Given the description of an element on the screen output the (x, y) to click on. 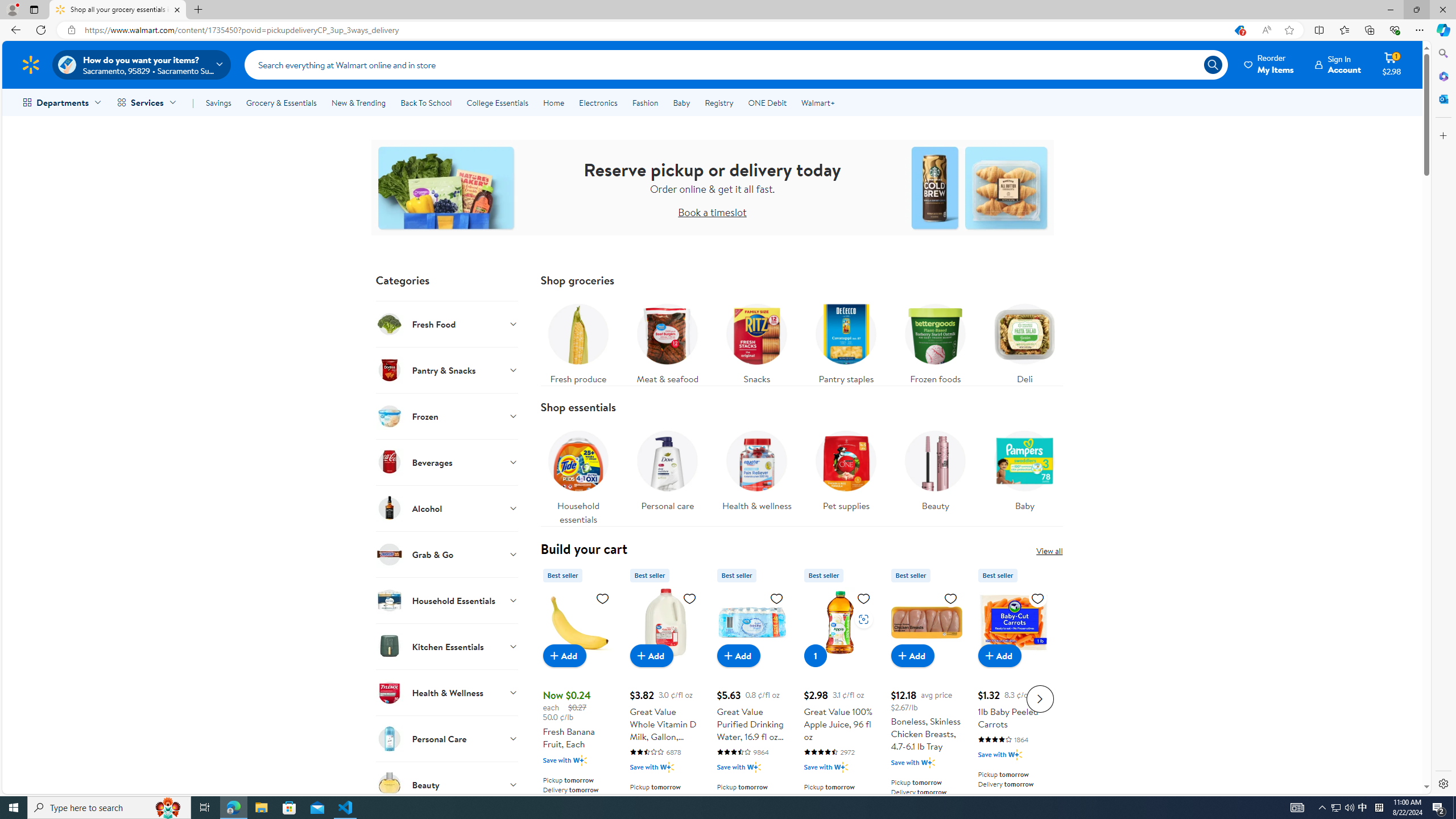
Add to cart - 1lb Baby Peeled Carrots (999, 655)
Sign InAccount (1338, 64)
Search icon (1212, 64)
ONE Debit (767, 102)
College Essentials (496, 102)
New & Trending (358, 102)
Household Essentials (446, 600)
Health & wellness (756, 467)
Great Value 100% Apple Juice, 96 fl oz (839, 621)
Alcohol (446, 507)
